Given the description of an element on the screen output the (x, y) to click on. 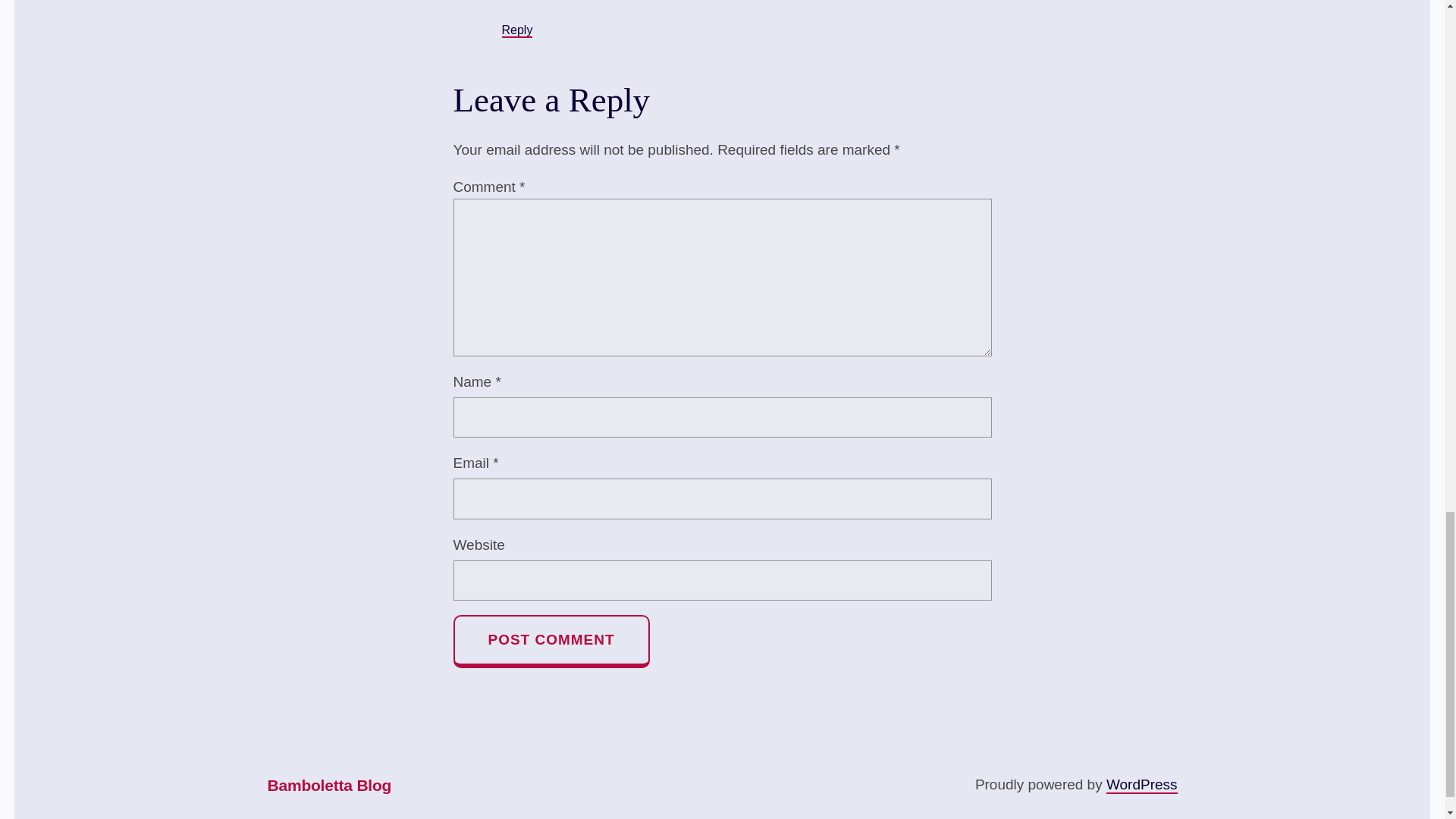
Reply (517, 30)
Post Comment (550, 641)
WordPress (1141, 784)
Post Comment (550, 641)
Bamboletta Blog (328, 785)
